Given the description of an element on the screen output the (x, y) to click on. 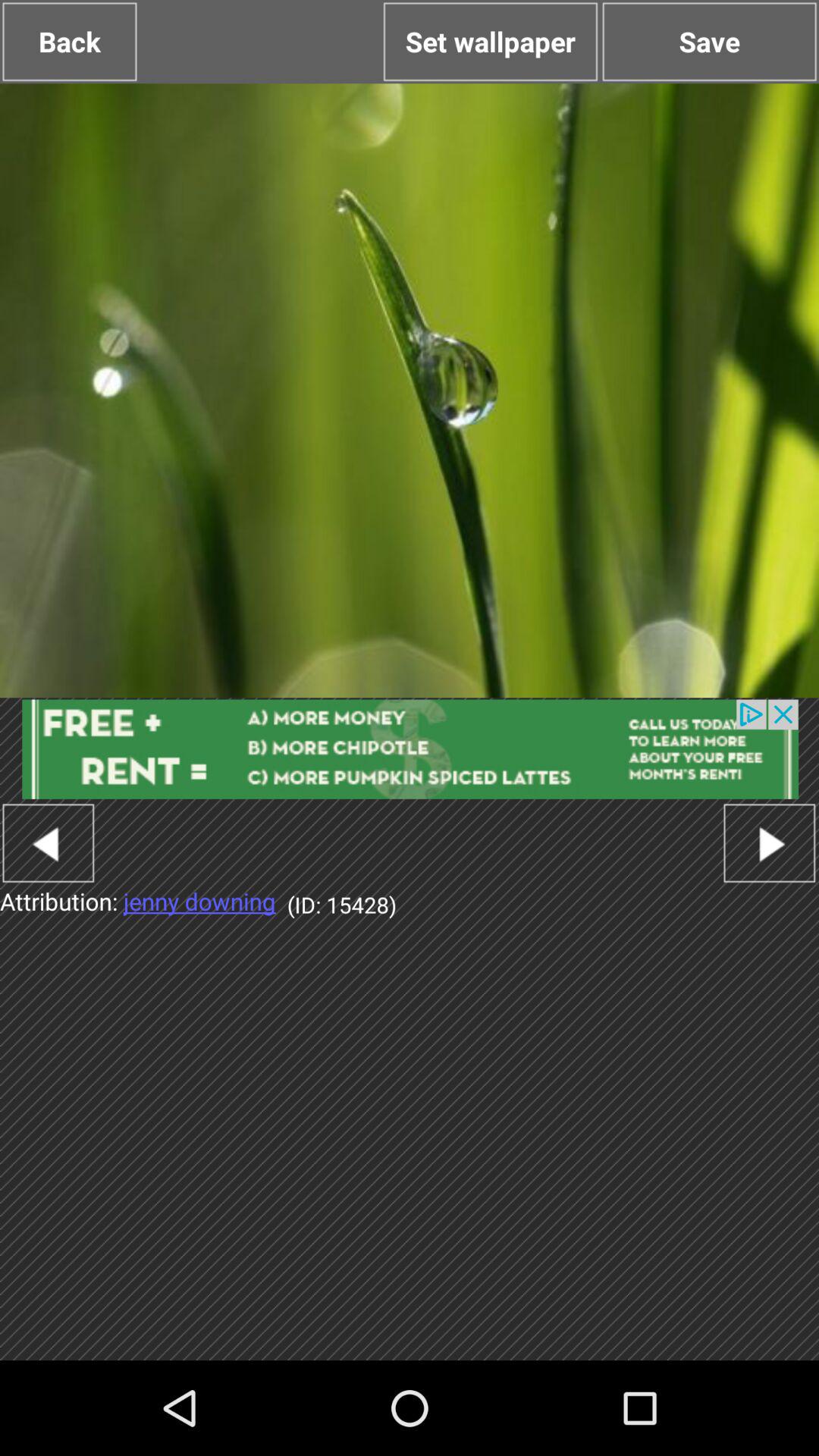
go to previous (48, 842)
